Given the description of an element on the screen output the (x, y) to click on. 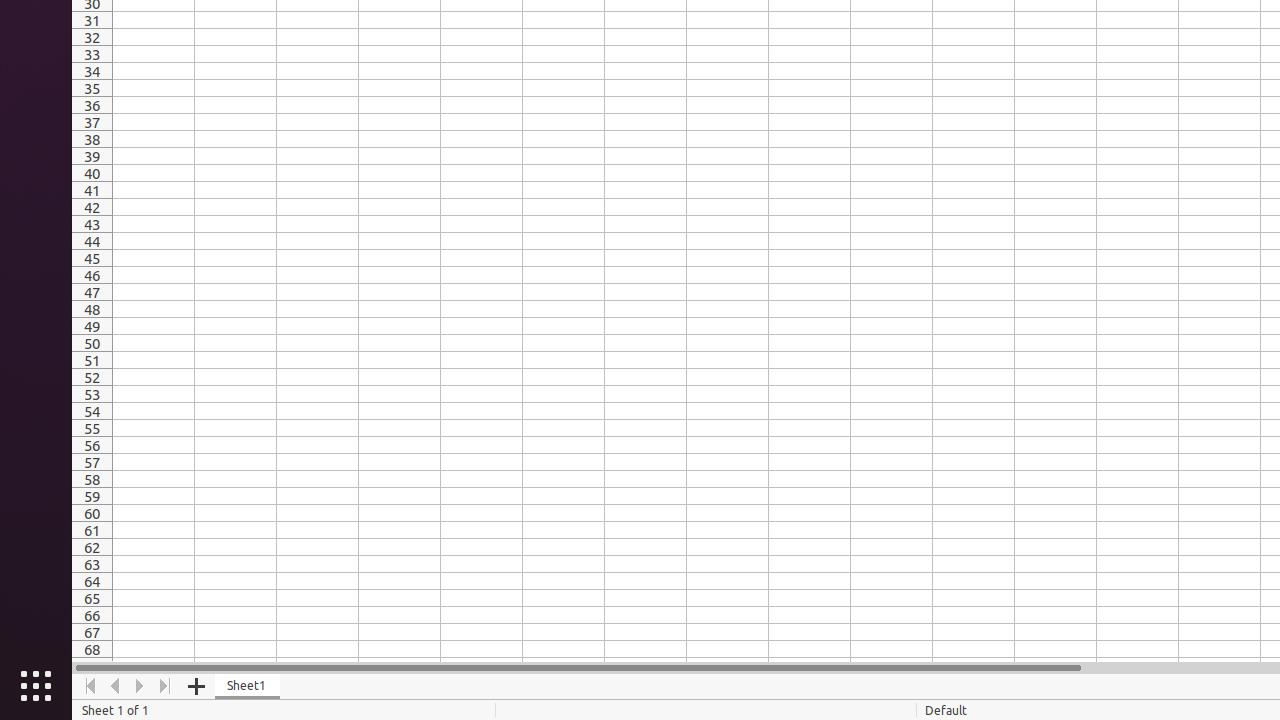
Move To End Element type: push-button (165, 686)
